Given the description of an element on the screen output the (x, y) to click on. 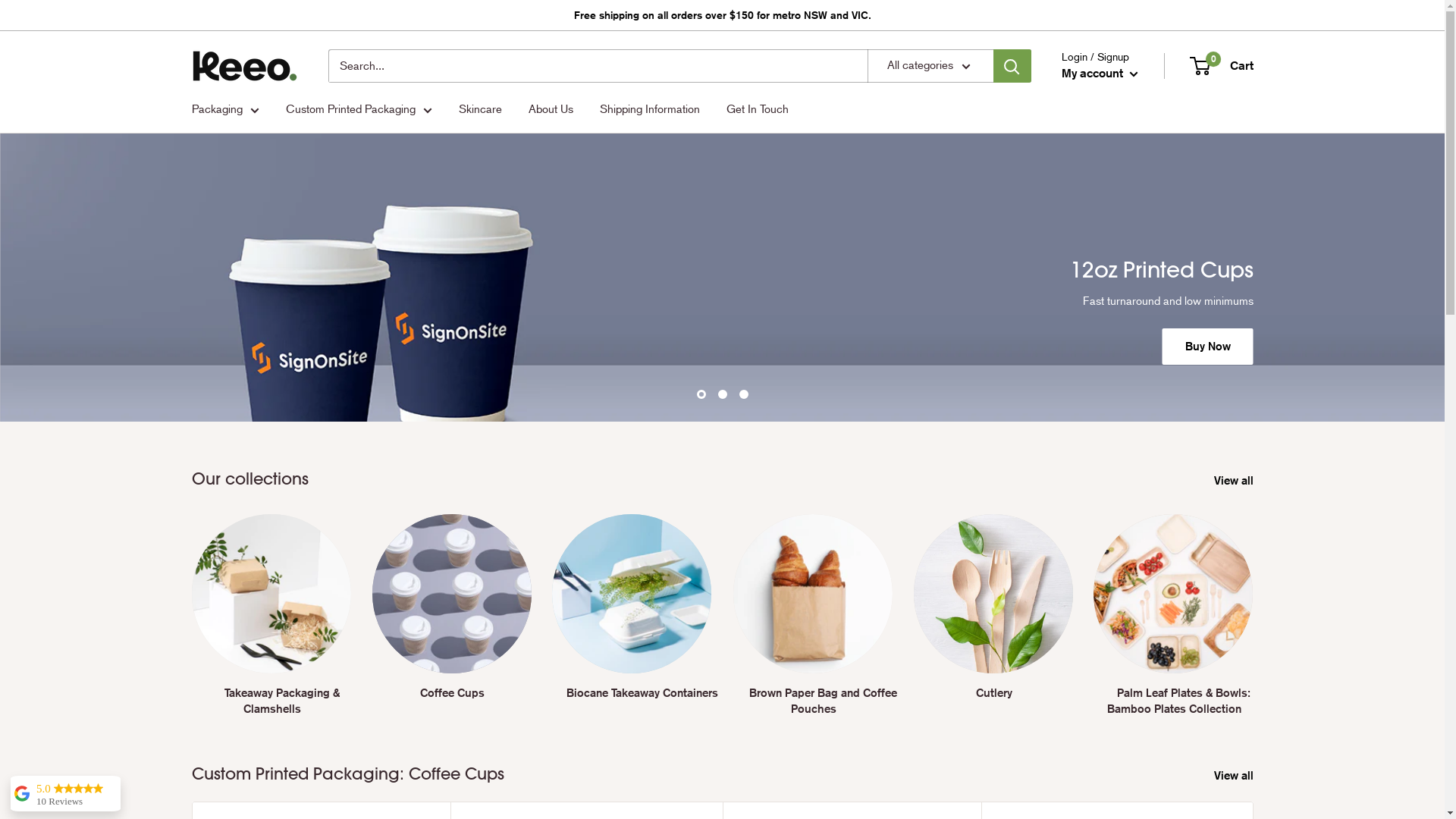
My account Element type: text (1099, 73)
Shipping Information Element type: text (649, 108)
Get In Touch Element type: text (757, 108)
Packaging Element type: text (224, 108)
View all Element type: text (1242, 480)
0
Cart Element type: text (1221, 65)
View all Element type: text (1242, 775)
Cutlery Element type: text (993, 607)
Custom Printed Packaging Element type: text (358, 108)
Brown Paper Bag and Coffee Pouches Element type: text (811, 615)
Shop Here Element type: text (1202, 300)
Skincare Element type: text (479, 108)
About Us Element type: text (549, 108)
Takeaway Packaging & Clamshells Element type: text (270, 615)
Palm Leaf Plates & Bowls: Bamboo Plates Collection Element type: text (1172, 615)
Biocane Takeaway Containers Element type: text (631, 615)
Coffee Cups Element type: text (451, 607)
